Given the description of an element on the screen output the (x, y) to click on. 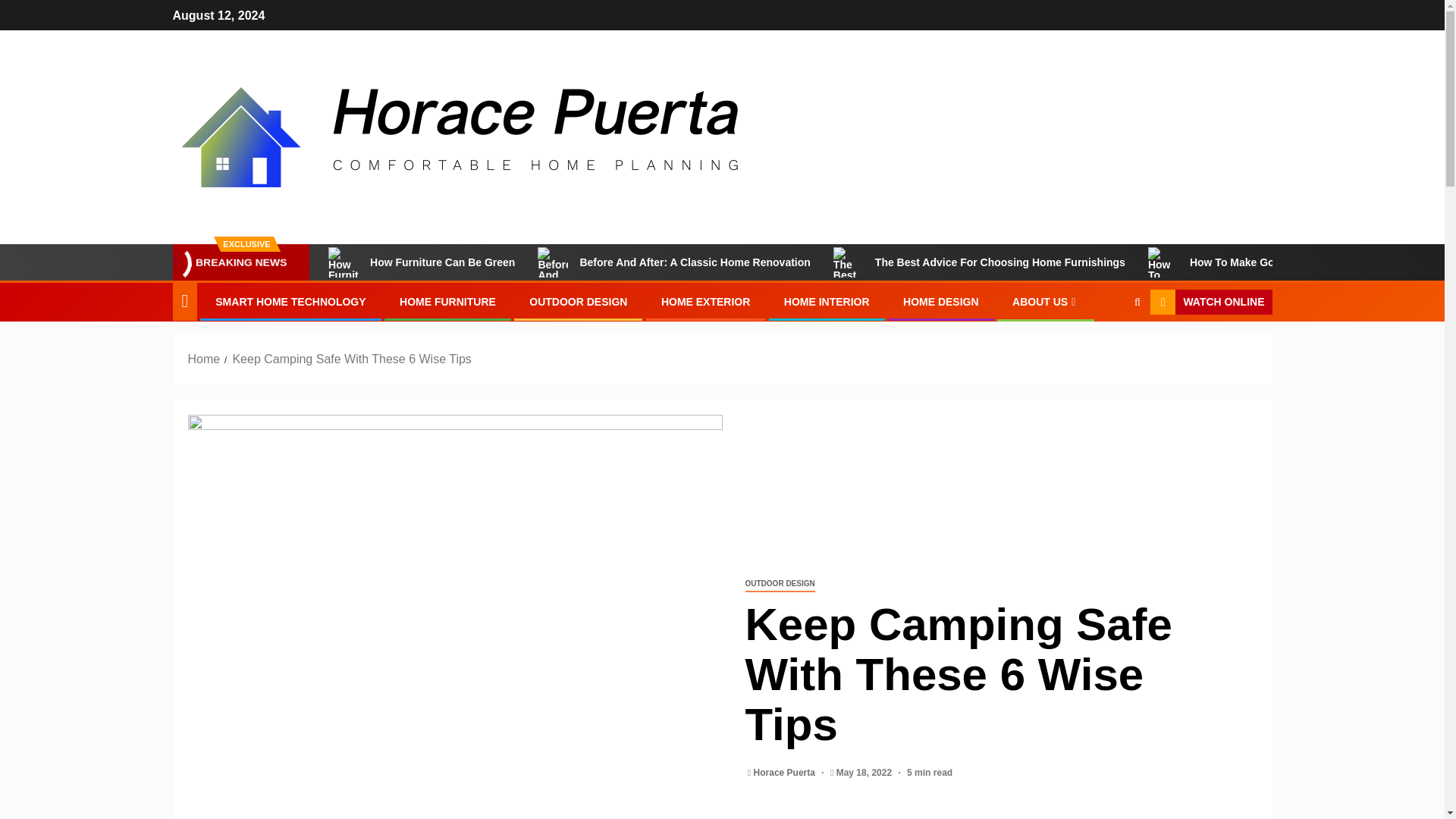
ABOUT US (1044, 301)
Before And After: A Classic Home Renovation (673, 262)
HOME EXTERIOR (705, 301)
Home (204, 358)
HOME FURNITURE (447, 301)
The Best Advice For Choosing Home Furnishings (979, 262)
OUTDOOR DESIGN (578, 301)
HOME DESIGN (940, 301)
How To Make Good Lighting? (1244, 262)
OUTDOOR DESIGN (778, 584)
